Given the description of an element on the screen output the (x, y) to click on. 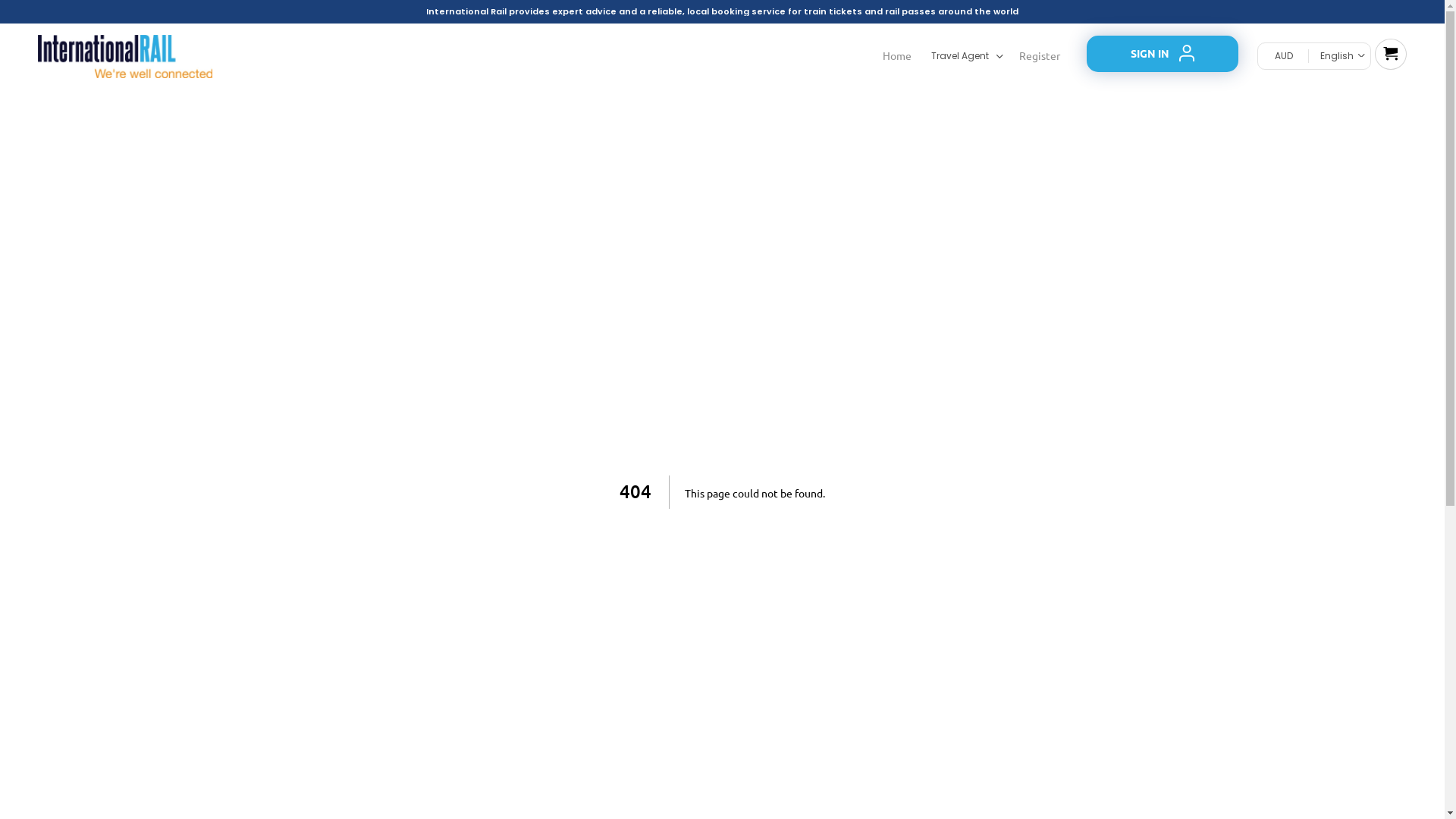
AUD
English Element type: text (1314, 55)
SIGN IN Element type: text (1162, 53)
Home Element type: text (896, 56)
Register Element type: text (1040, 56)
